Given the description of an element on the screen output the (x, y) to click on. 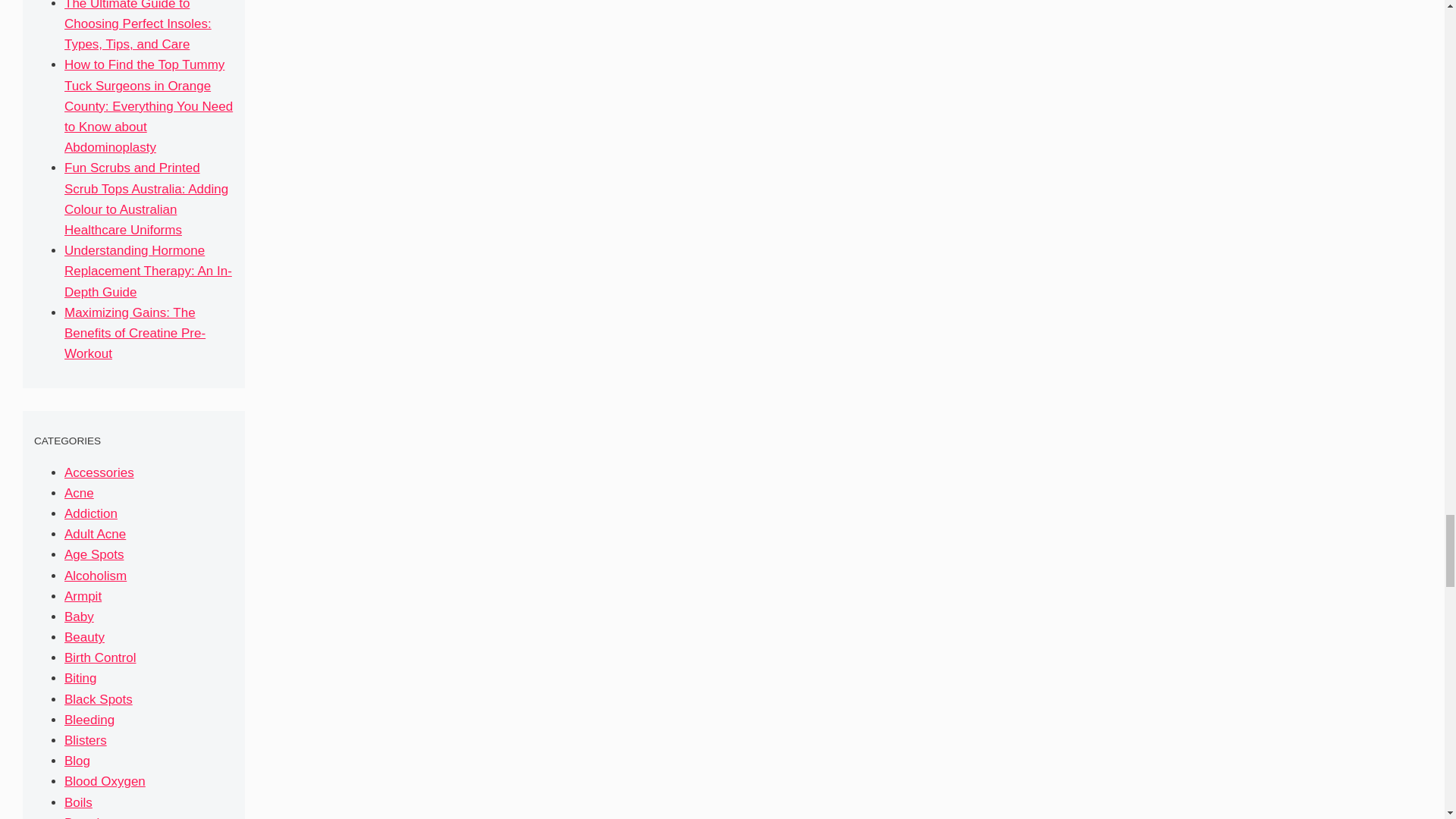
Addiction (90, 513)
Accessories (98, 472)
Maximizing Gains: The Benefits of Creatine Pre-Workout (134, 333)
Alcoholism (95, 575)
Armpit (82, 595)
Understanding Hormone Replacement Therapy: An In-Depth Guide (147, 270)
Age Spots (93, 554)
